Given the description of an element on the screen output the (x, y) to click on. 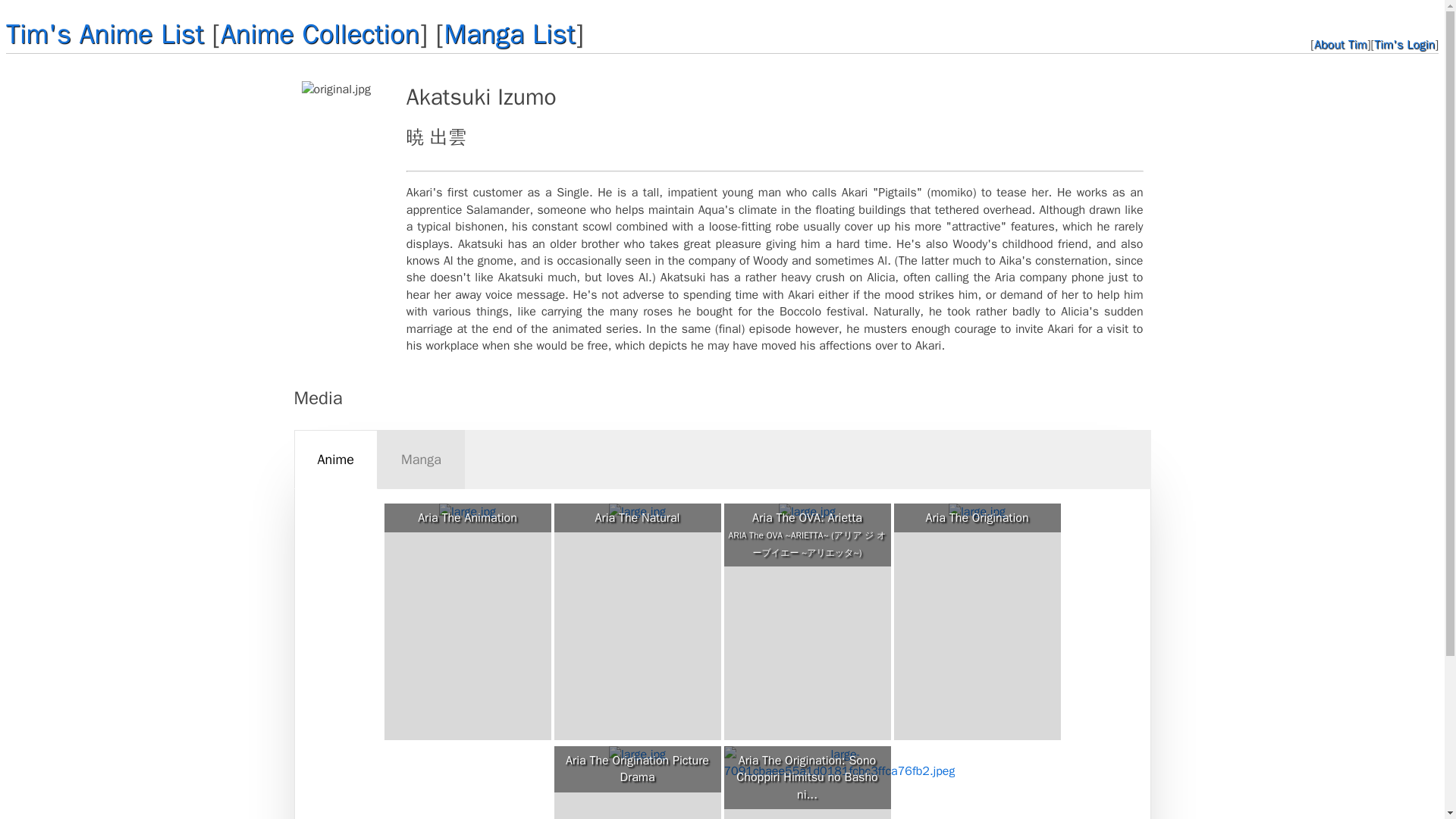
Aria The Origination (976, 517)
Manga List (509, 33)
About Tim (1340, 44)
Anime Collection (320, 33)
Tim's Anime List (104, 33)
Aria The Origination: Sono Choppiri Himitsu no Basho ni... (806, 777)
Aria The Origination Picture Drama (636, 769)
Aria The Natural (636, 517)
Aria The Animation (467, 517)
